Given the description of an element on the screen output the (x, y) to click on. 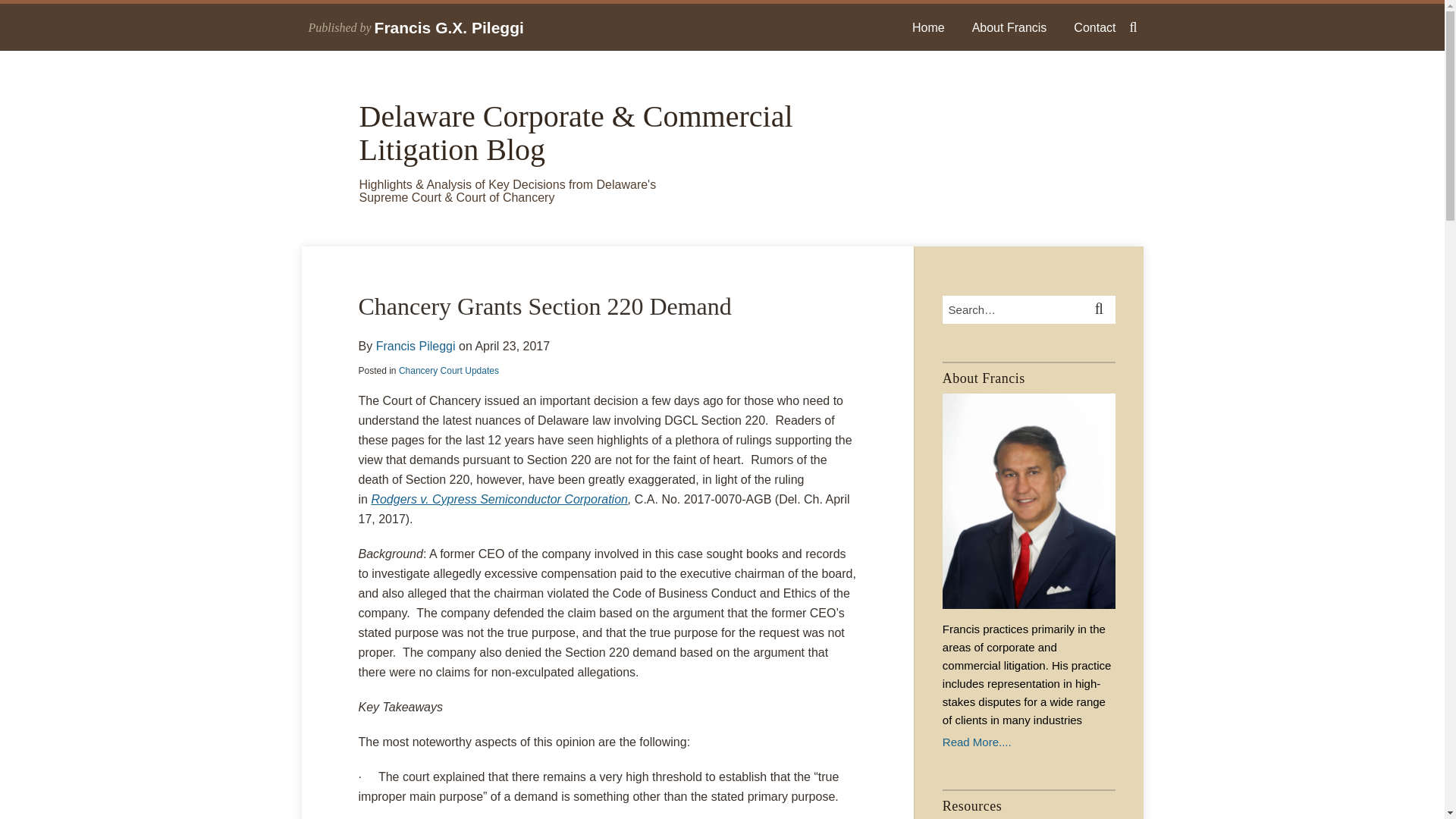
About Francis (1009, 27)
Read More.... (1028, 742)
Chancery Court Updates (448, 370)
Francis G.X. Pileggi (449, 27)
SEARCH (1101, 309)
Contact (1094, 27)
Home (928, 27)
Rodgers v. Cypress Semiconductor Corporation (499, 499)
Francis Pileggi (415, 345)
